Given the description of an element on the screen output the (x, y) to click on. 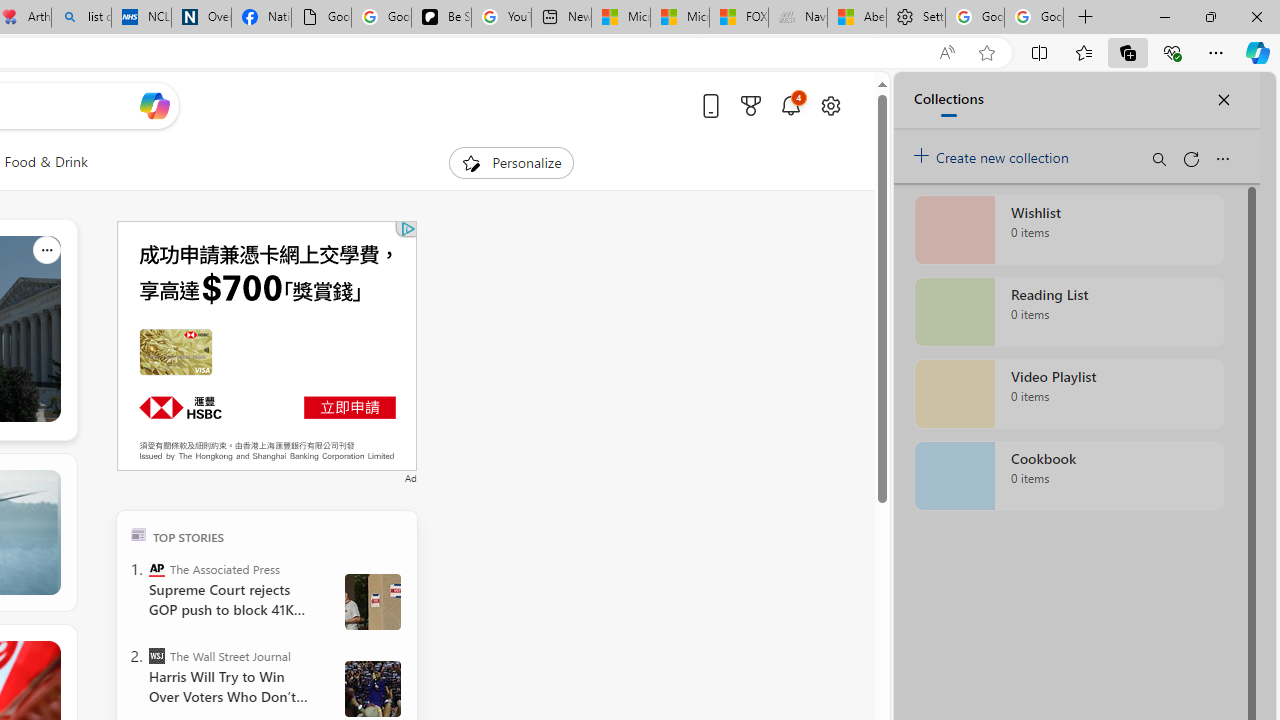
Navy Quest (797, 17)
Class: qc-adchoices-icon (407, 228)
Food & Drink (45, 162)
See more (46, 654)
Open Copilot (155, 105)
Open settings (830, 105)
The Associated Press (156, 568)
Google Analytics Opt-out Browser Add-on Download Page (320, 17)
